Given the description of an element on the screen output the (x, y) to click on. 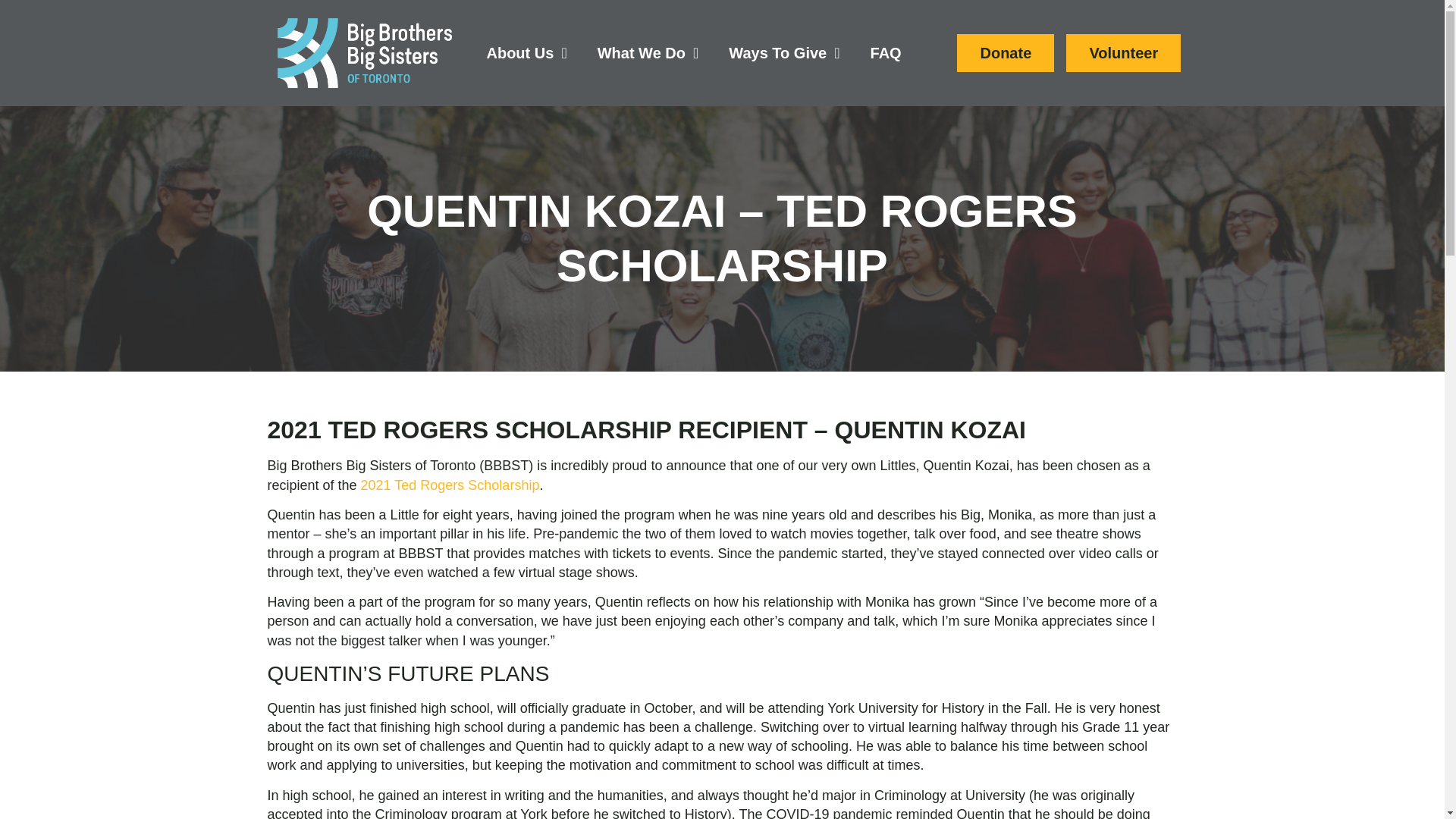
What We Do (648, 53)
FAQ (886, 53)
Ways To Give (783, 53)
About Us (525, 53)
